Given the description of an element on the screen output the (x, y) to click on. 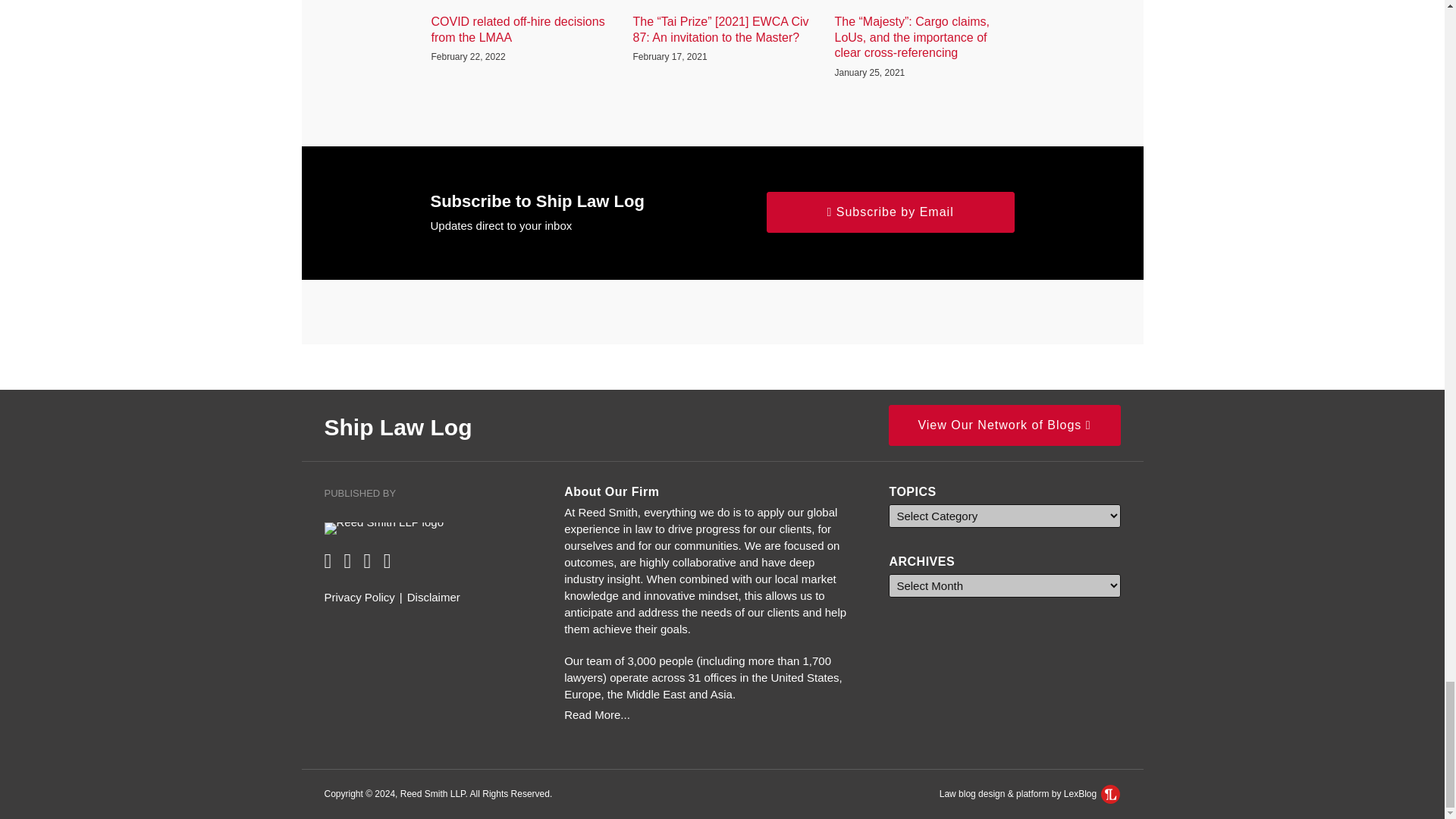
Read More... (710, 714)
Subscribe by Email (890, 211)
Disclaimer (433, 597)
View Our Network of Blogs (1004, 424)
Privacy Policy (359, 597)
COVID related off-hire decisions from the LMAA (520, 29)
LexBlog Logo (1109, 793)
Ship Law Log (397, 426)
